Given the description of an element on the screen output the (x, y) to click on. 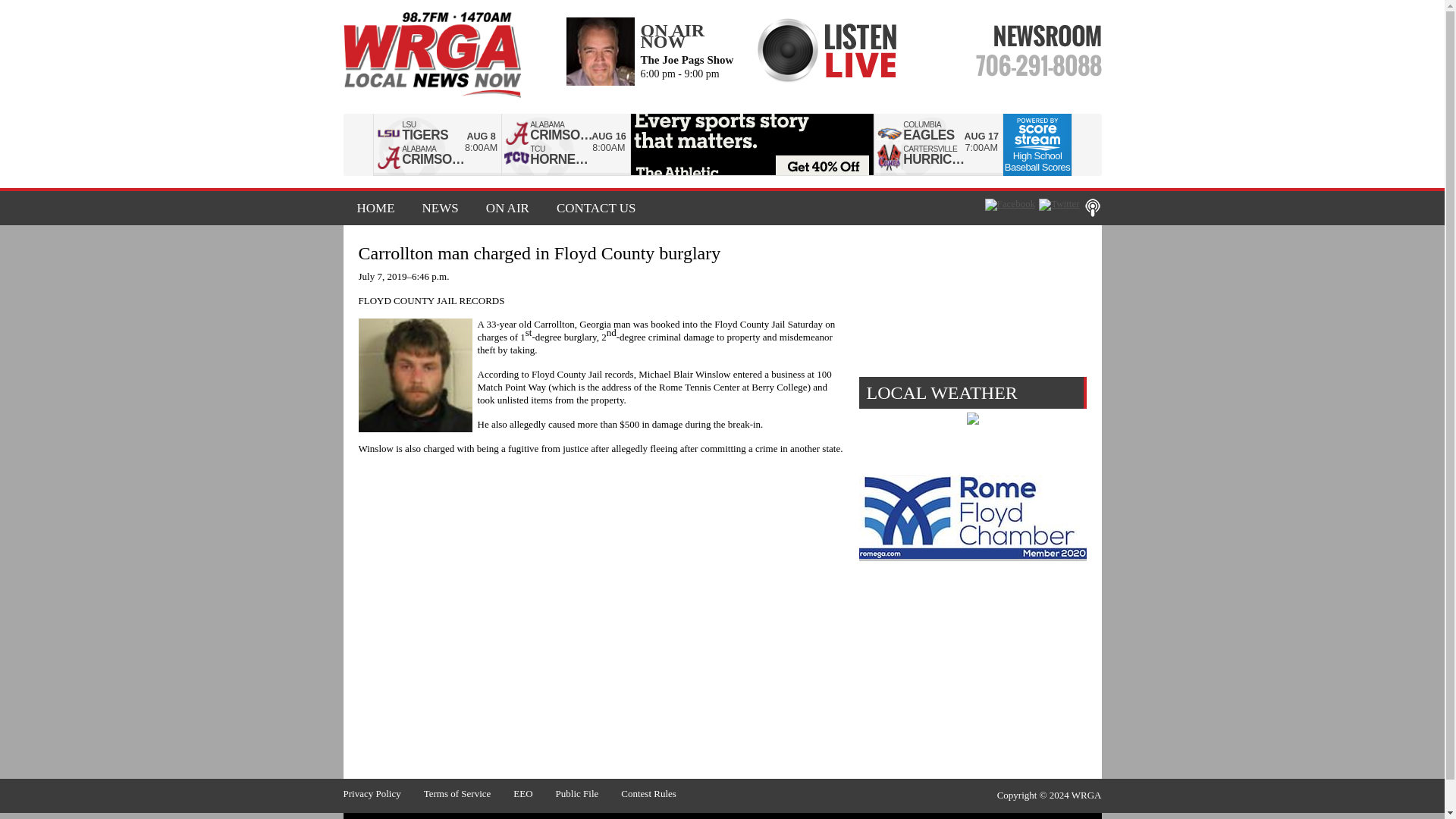
HOME (374, 207)
Podcasts (1091, 208)
EEO (533, 792)
Terms of Service (468, 792)
NEWS (440, 207)
Contest Rules (659, 792)
Privacy Policy (382, 792)
Facebook (1010, 204)
Twitter (1058, 204)
CONTACT US (589, 207)
ON AIR (507, 207)
Public File (588, 792)
